Given the description of an element on the screen output the (x, y) to click on. 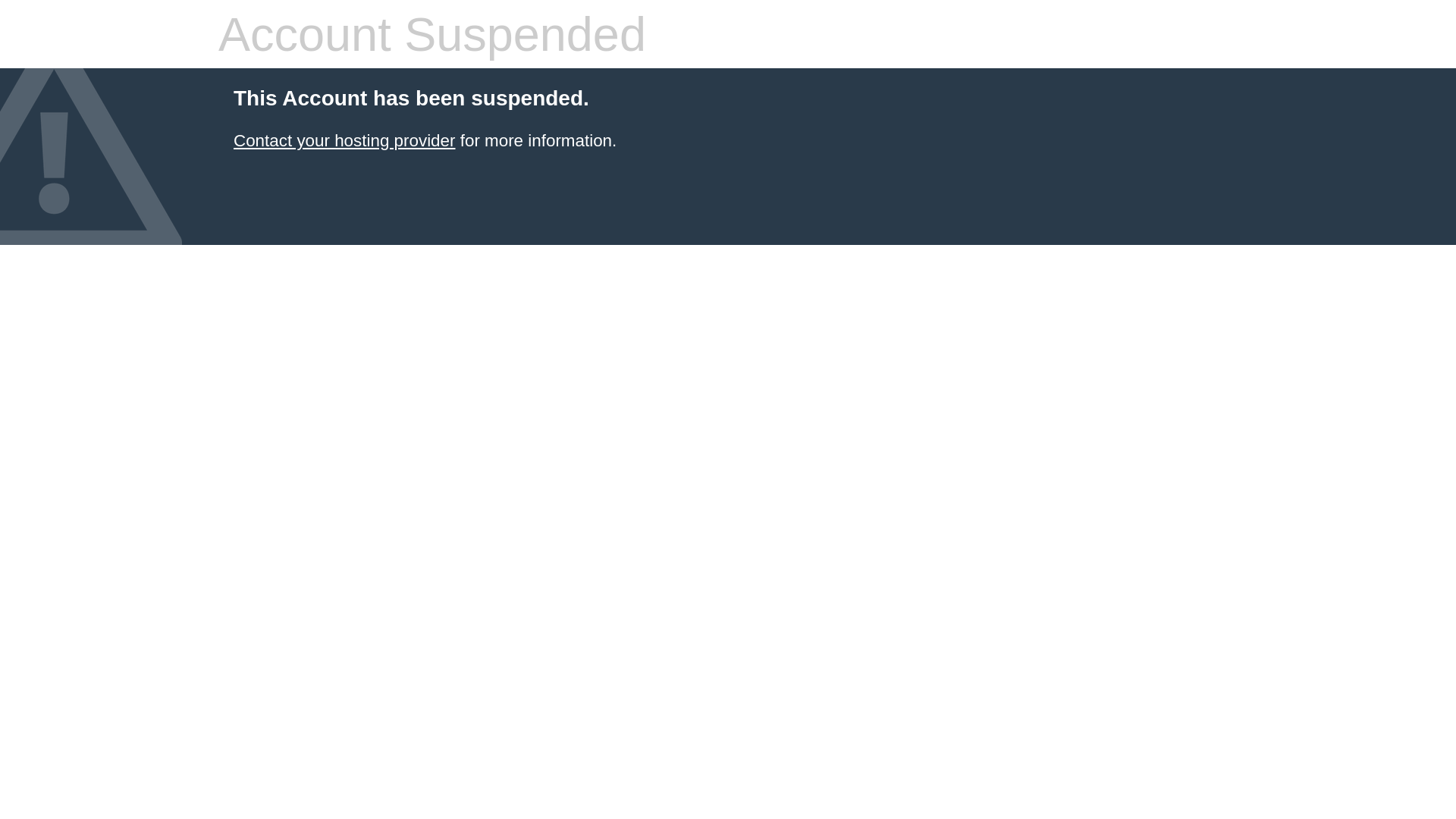
Contact your hosting provider Element type: text (344, 140)
